Given the description of an element on the screen output the (x, y) to click on. 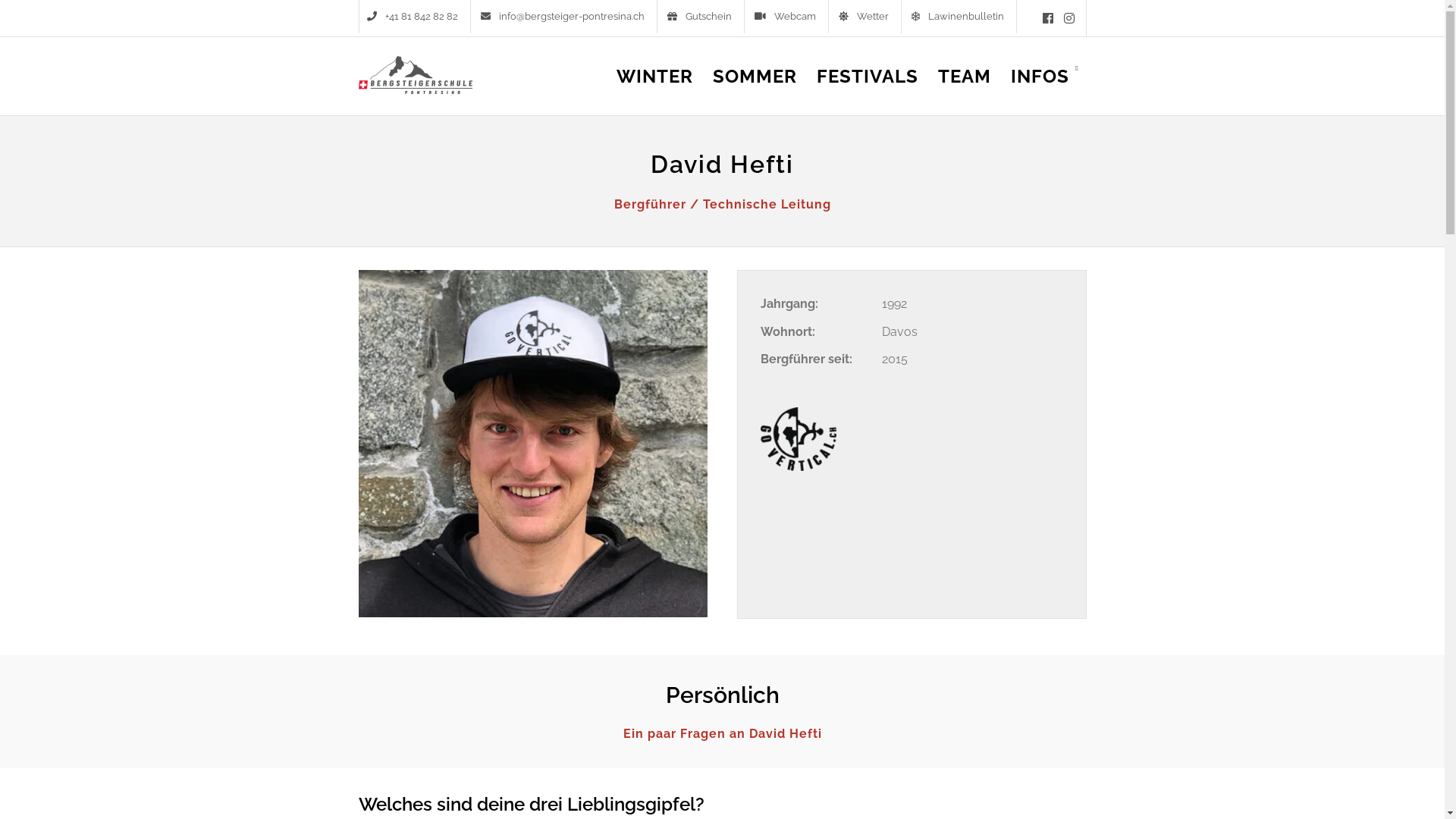
Gutschein Element type: text (701, 15)
WINTER Element type: text (654, 87)
TEAM Element type: text (964, 87)
info@bergsteiger-pontresina.ch Element type: text (564, 15)
Lawinenbulletin Element type: text (959, 15)
+41 81 842 82 82 Element type: text (414, 15)
INFOS Element type: text (1044, 87)
SOMMER Element type: text (754, 87)
FESTIVALS Element type: text (867, 87)
Wetter Element type: text (865, 15)
Webcam Element type: text (786, 15)
Instagram Element type: hover (1068, 17)
